Given the description of an element on the screen output the (x, y) to click on. 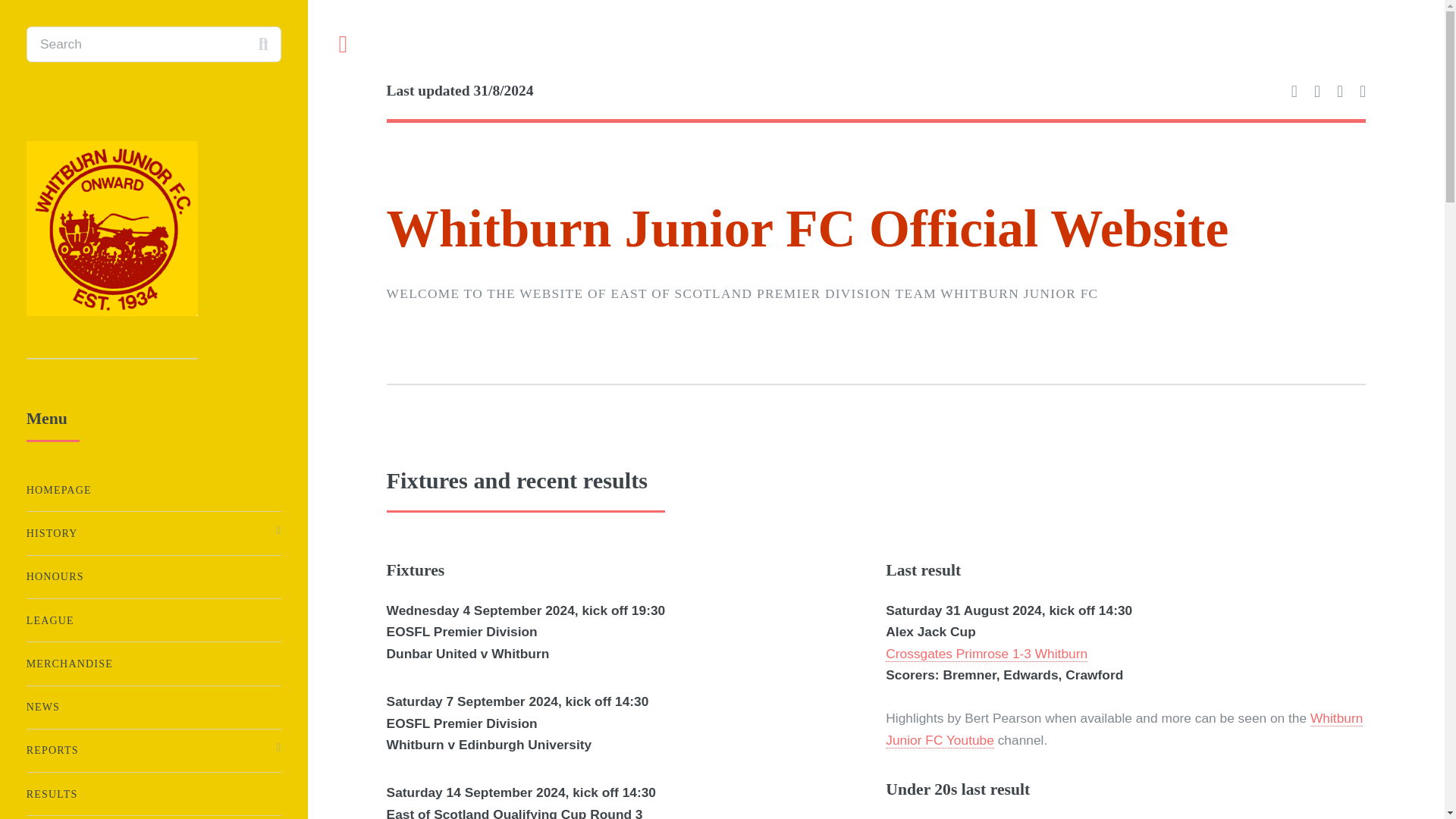
Crossgates Primrose 1-3 Whitburn (986, 653)
LEAGUE (153, 620)
HONOURS (153, 576)
NEWS (153, 706)
HOMEPAGE (153, 490)
MERCHANDISE (153, 663)
RESULTS (153, 793)
Whitburn Junior FC Youtube (1123, 729)
